Given the description of an element on the screen output the (x, y) to click on. 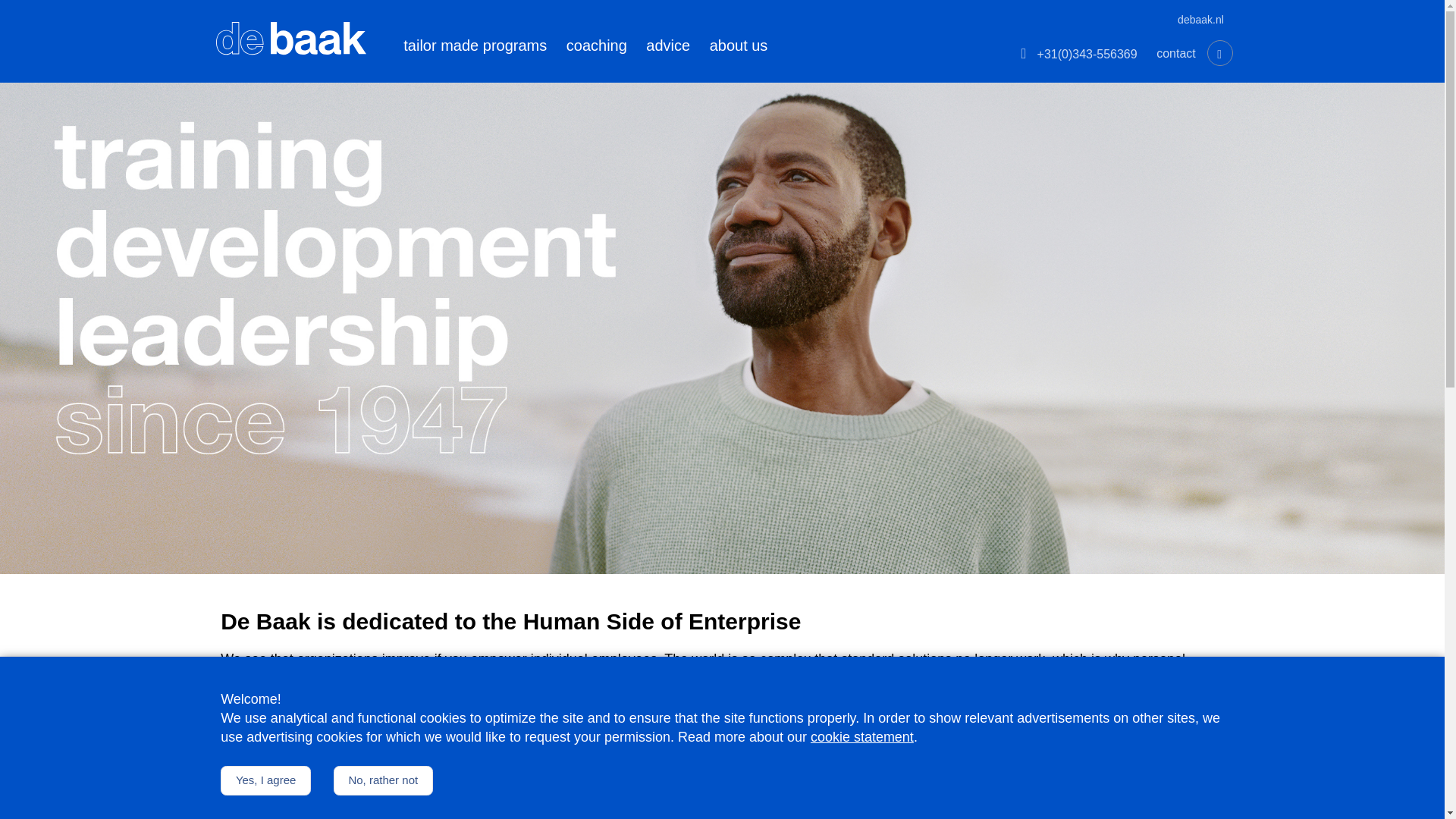
contact (1176, 53)
coaching (596, 45)
about us (738, 45)
Yes, I agree (266, 780)
No, rather not (382, 780)
Open zoekfunctie (1220, 53)
debaak.nl (1200, 20)
tailor made programs (475, 45)
advice (668, 45)
